Given the description of an element on the screen output the (x, y) to click on. 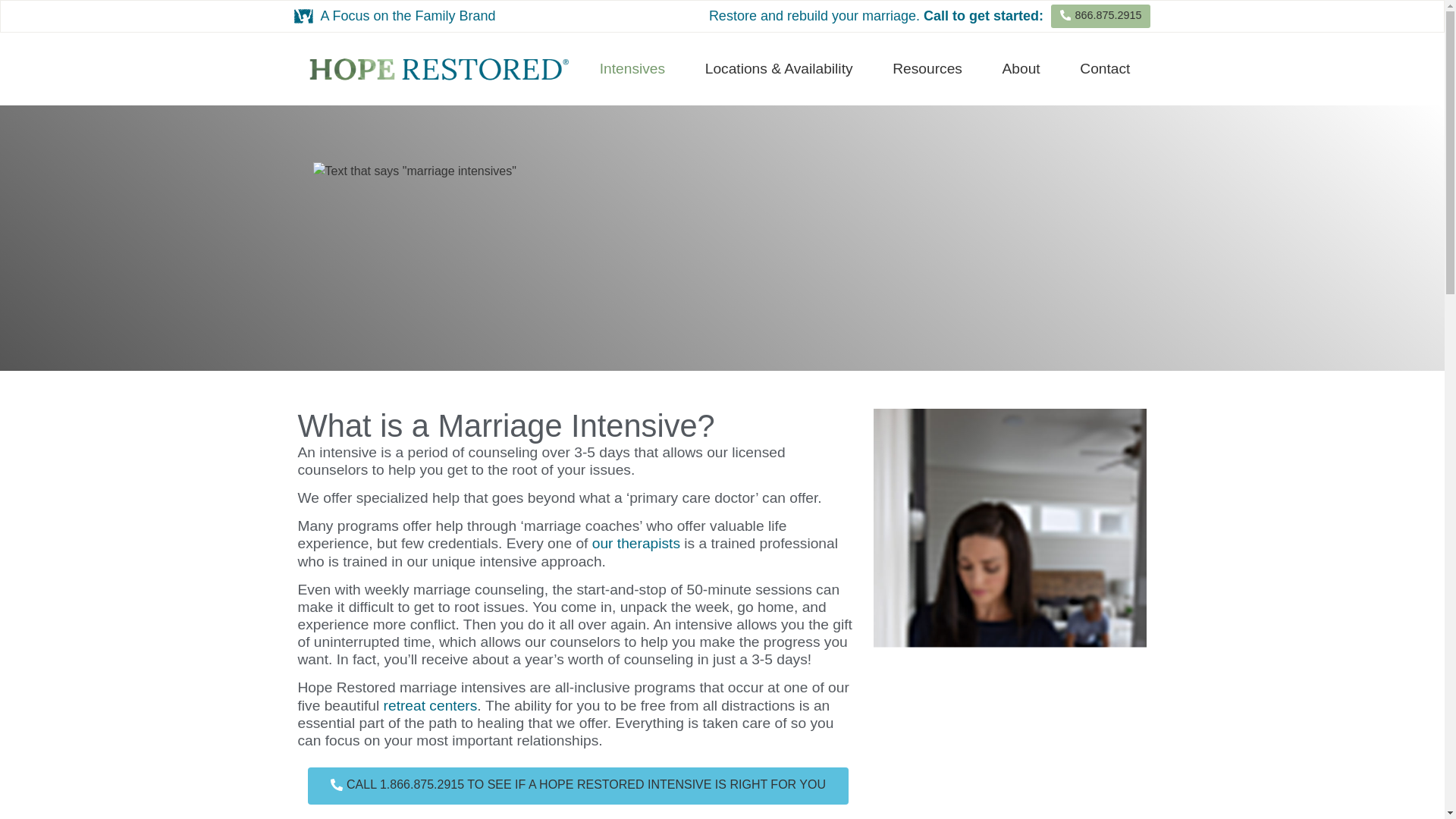
FOTF-Favicon.png (303, 15)
our therapists (635, 543)
Intensives (631, 68)
retreat centers (430, 705)
866.875.2915 (1100, 15)
Contact (1104, 68)
A Focus on the Family Brand (407, 15)
About (1020, 68)
Resources (926, 68)
